Given the description of an element on the screen output the (x, y) to click on. 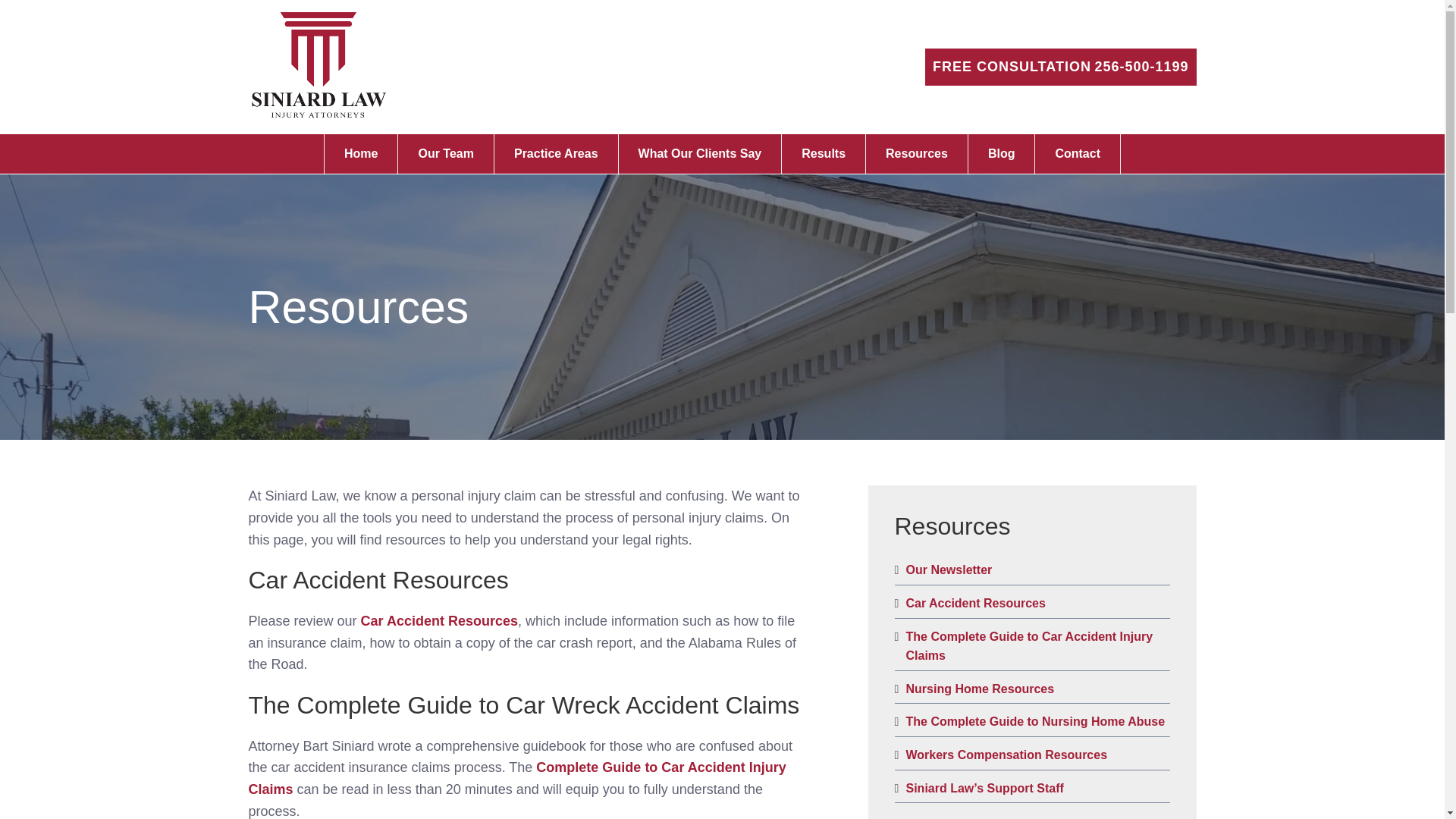
Our Team (446, 153)
Home (360, 153)
256-500-1199 (1141, 66)
